Given the description of an element on the screen output the (x, y) to click on. 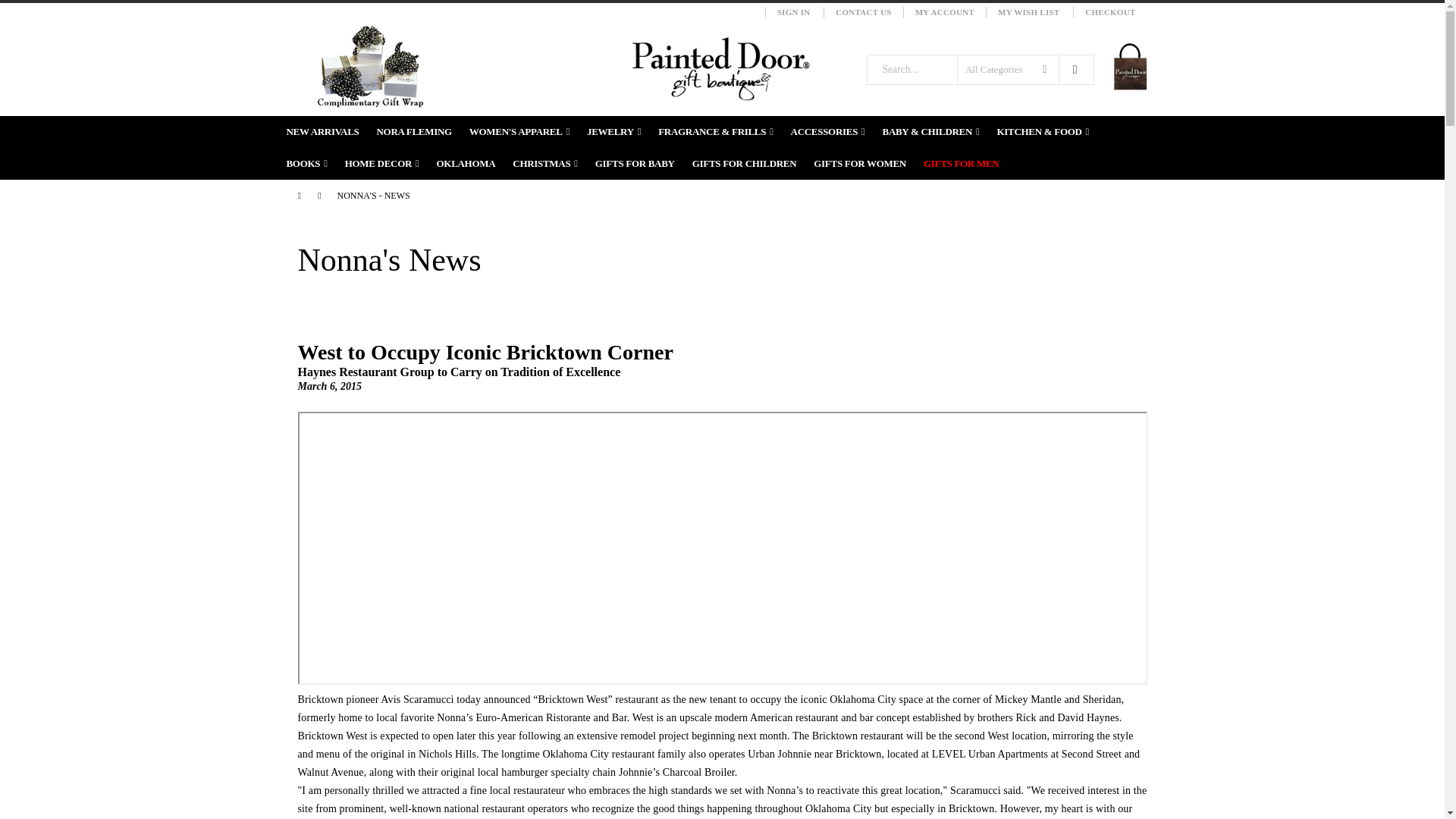
JEWELRY (613, 132)
Nora Fleming (413, 132)
MY WISH LIST (1027, 12)
Jewelry (613, 132)
NEW ARRIVALS (322, 132)
SIGN IN (793, 12)
Search (1074, 69)
MY ACCOUNT (943, 12)
NEW ARRIVALS (322, 132)
NORA FLEMING (413, 132)
Painted Door Gift Boutique (719, 68)
CONTACT US (863, 12)
CHECKOUT (1110, 12)
Women's Apparel (518, 132)
WOMEN'S APPAREL (518, 132)
